Given the description of an element on the screen output the (x, y) to click on. 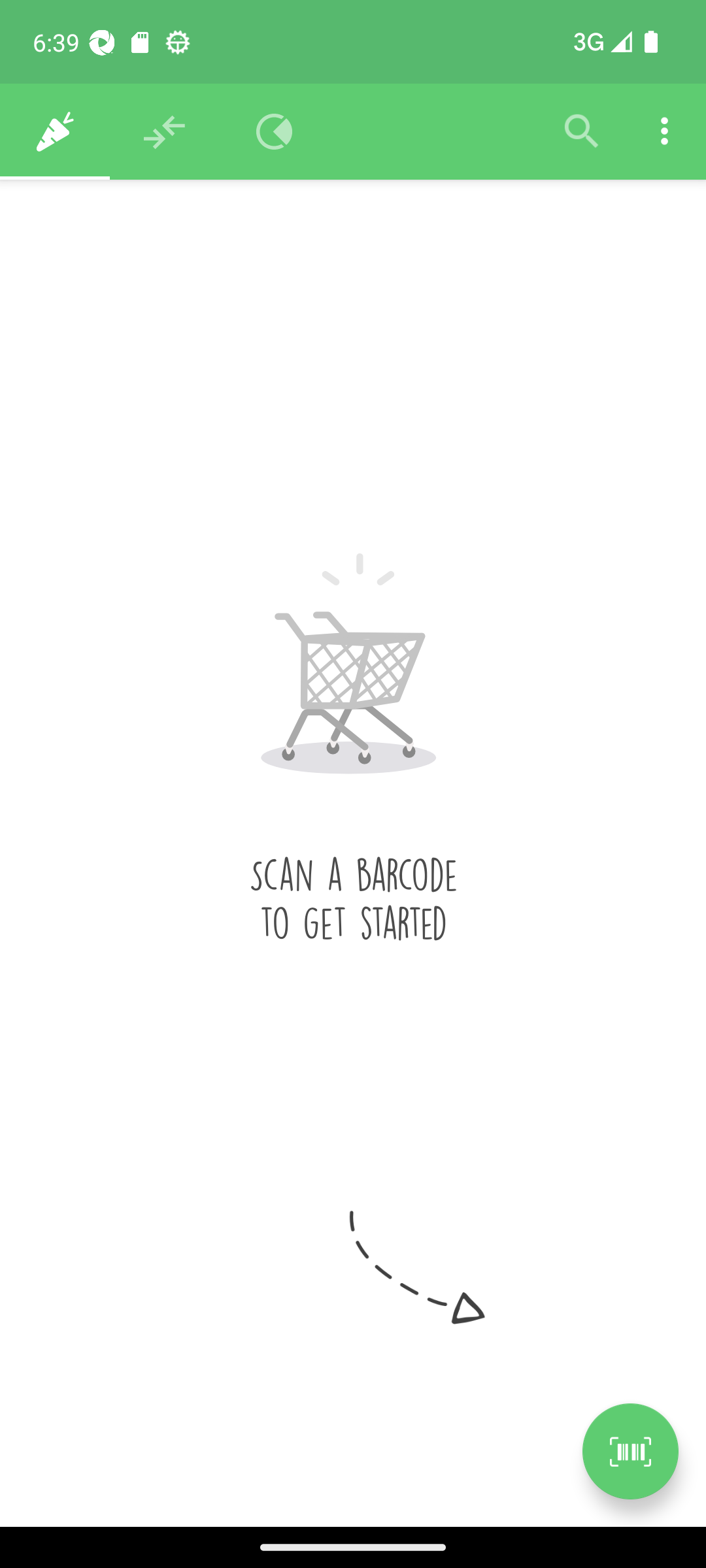
Recommendations (164, 131)
Overview (274, 131)
Filter (581, 131)
Settings (664, 131)
Scan a product (630, 1451)
